Given the description of an element on the screen output the (x, y) to click on. 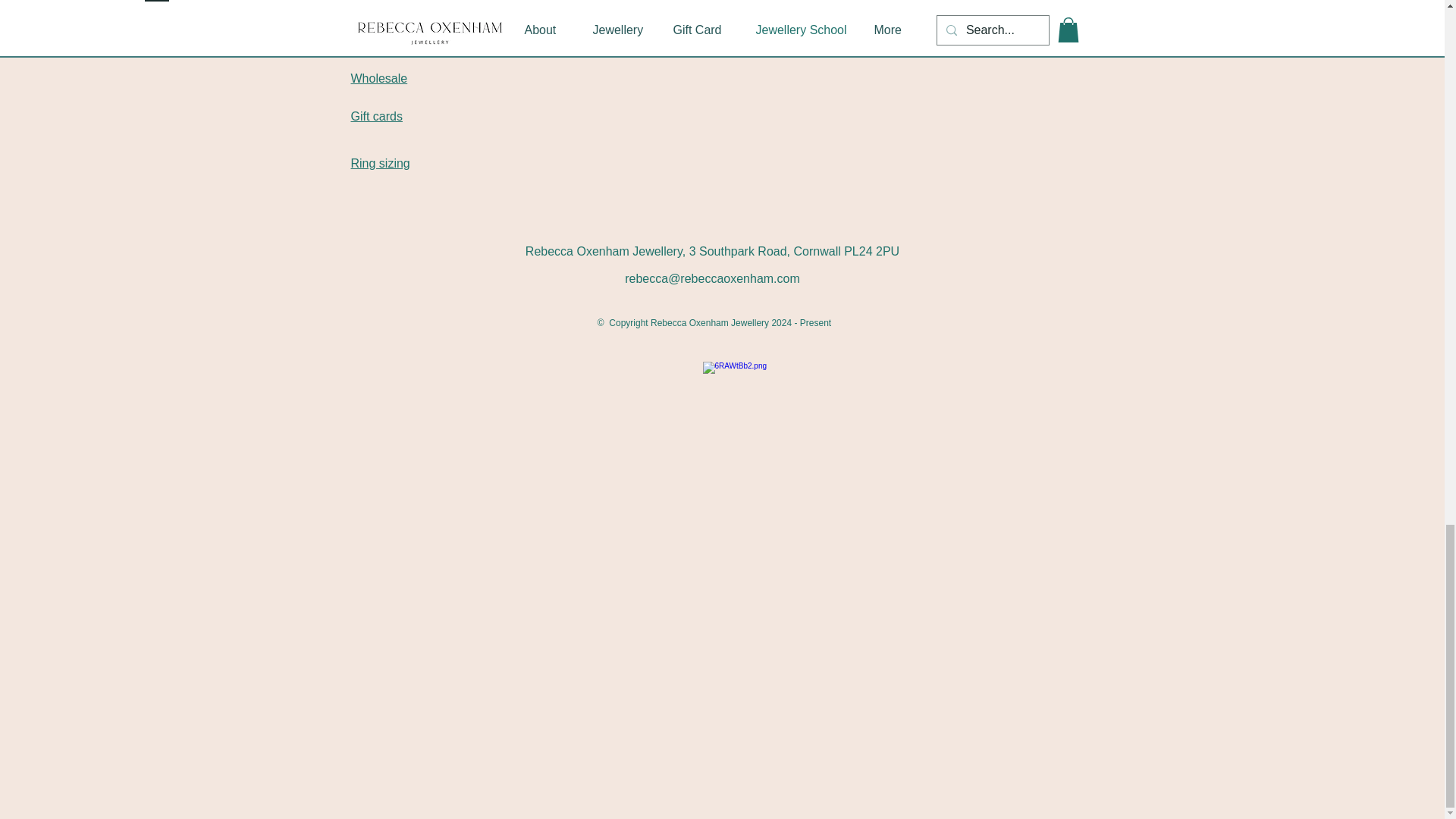
Press enquiries (394, 31)
